Given the description of an element on the screen output the (x, y) to click on. 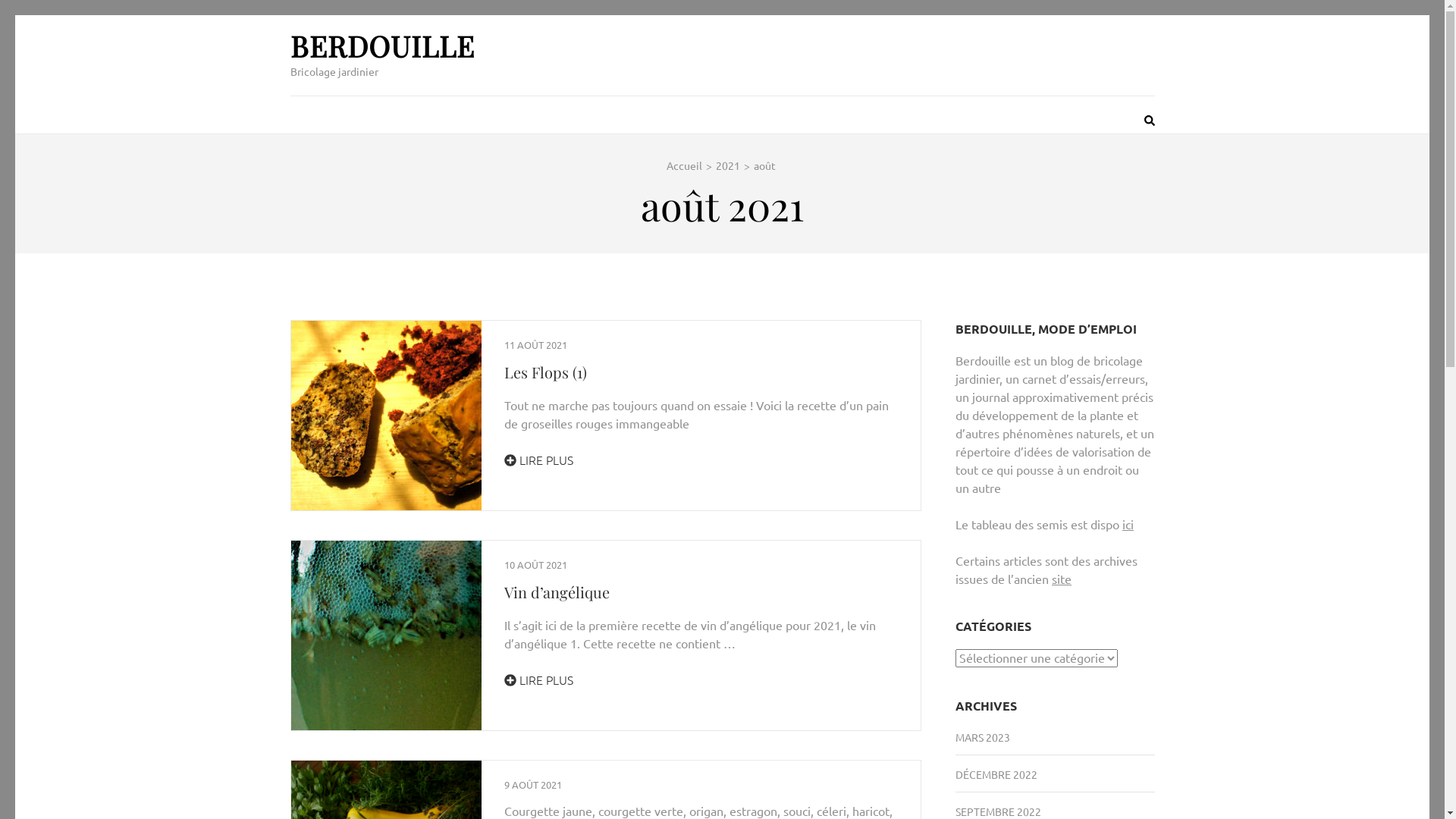
2021 Element type: text (727, 165)
BERDOUILLE Element type: text (381, 45)
Accueil Element type: text (683, 165)
site Element type: text (1061, 578)
SEPTEMBRE 2022 Element type: text (998, 810)
LIRE PLUS Element type: text (537, 679)
LIRE PLUS Element type: text (537, 459)
Les Flops (1) Element type: text (544, 371)
MARS 2023 Element type: text (982, 736)
ici Element type: text (1127, 523)
